Given the description of an element on the screen output the (x, y) to click on. 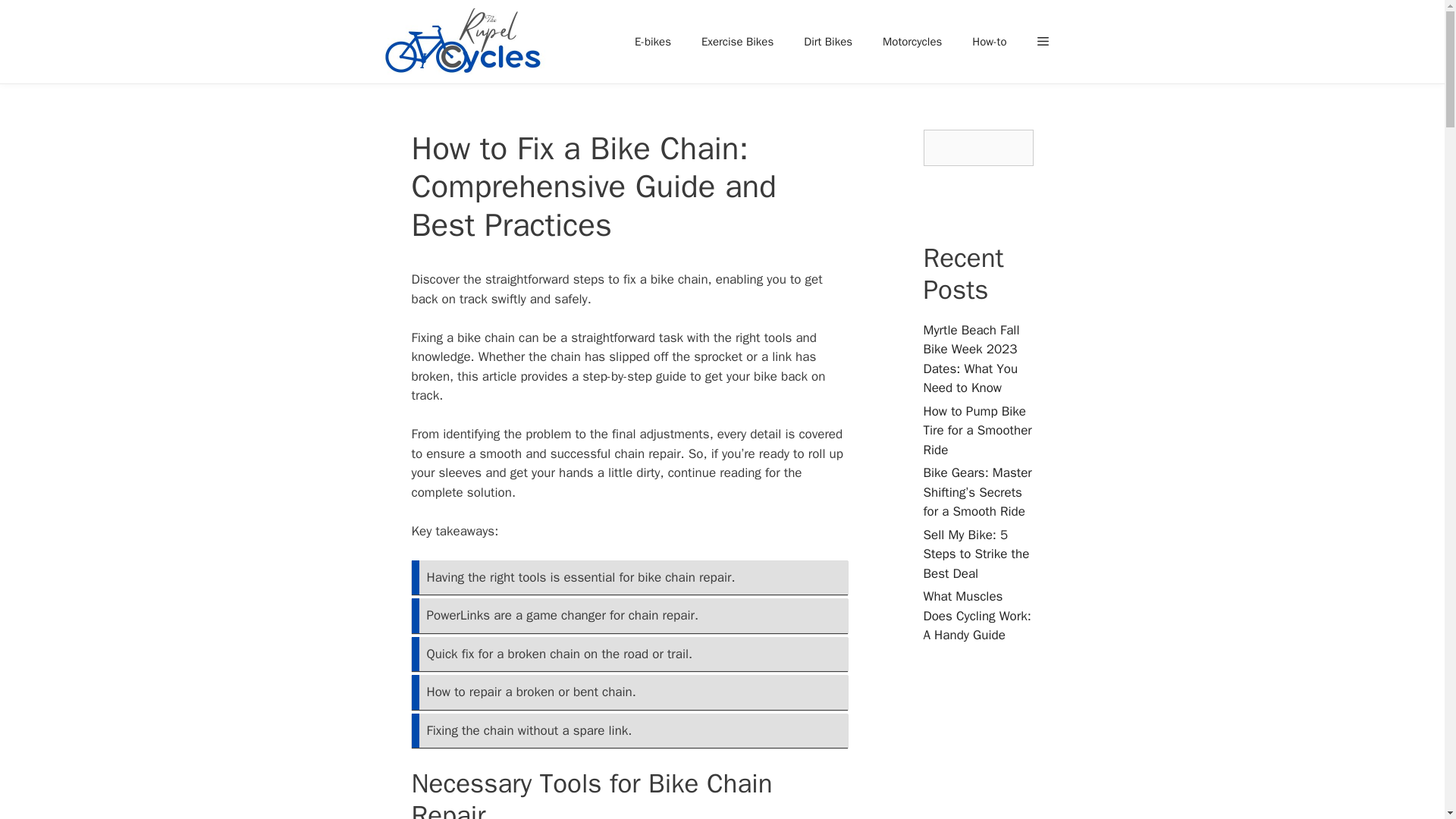
Sell My Bike: 5 Steps to Strike the Best Deal (976, 553)
How-to (989, 41)
Motorcycles (911, 41)
E-bikes (652, 41)
What Muscles Does Cycling Work: A Handy Guide (976, 615)
The Rupel Cycles (467, 41)
Dirt Bikes (828, 41)
How to Pump Bike Tire for a Smoother Ride (977, 430)
Exercise Bikes (737, 41)
The Rupel Cycles (463, 41)
